Given the description of an element on the screen output the (x, y) to click on. 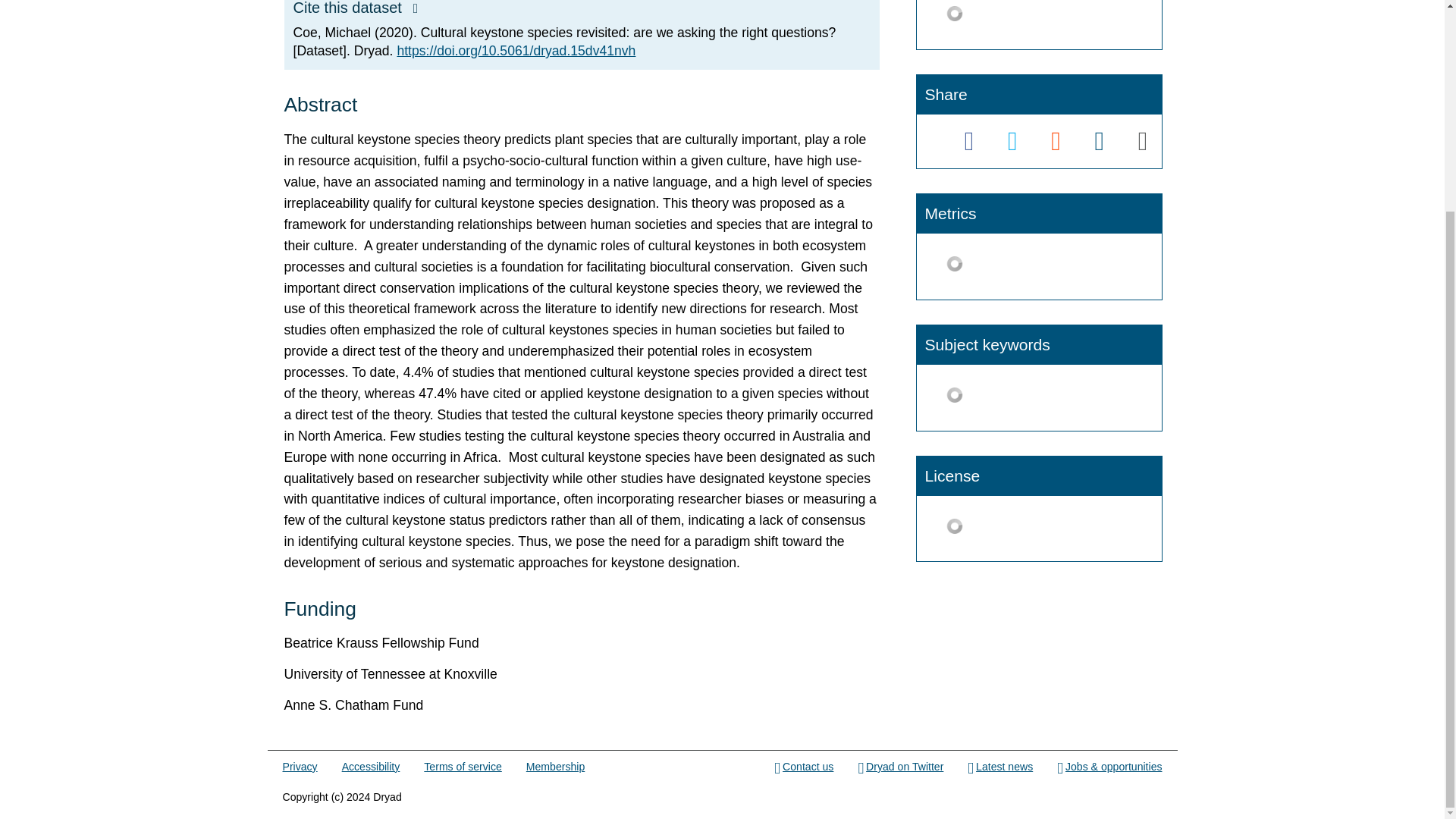
Accessibility (371, 767)
Membership (555, 767)
Privacy (299, 767)
Copy citation (415, 9)
Contact us (803, 767)
Terms of service (461, 767)
